Given the description of an element on the screen output the (x, y) to click on. 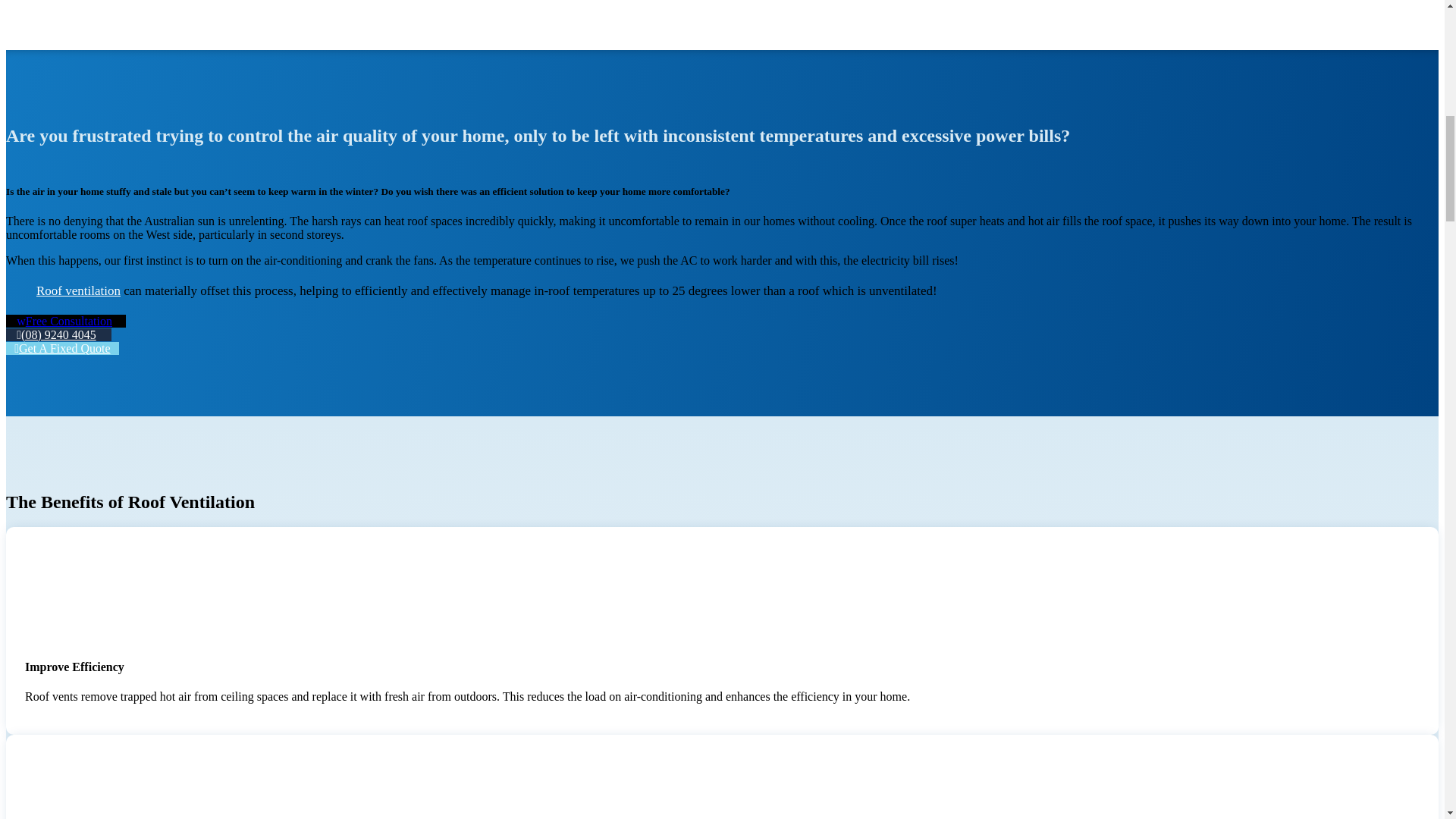
Free Consultation (65, 320)
Roof ventilation (78, 290)
Get A Fixed Quote (62, 348)
